Given the description of an element on the screen output the (x, y) to click on. 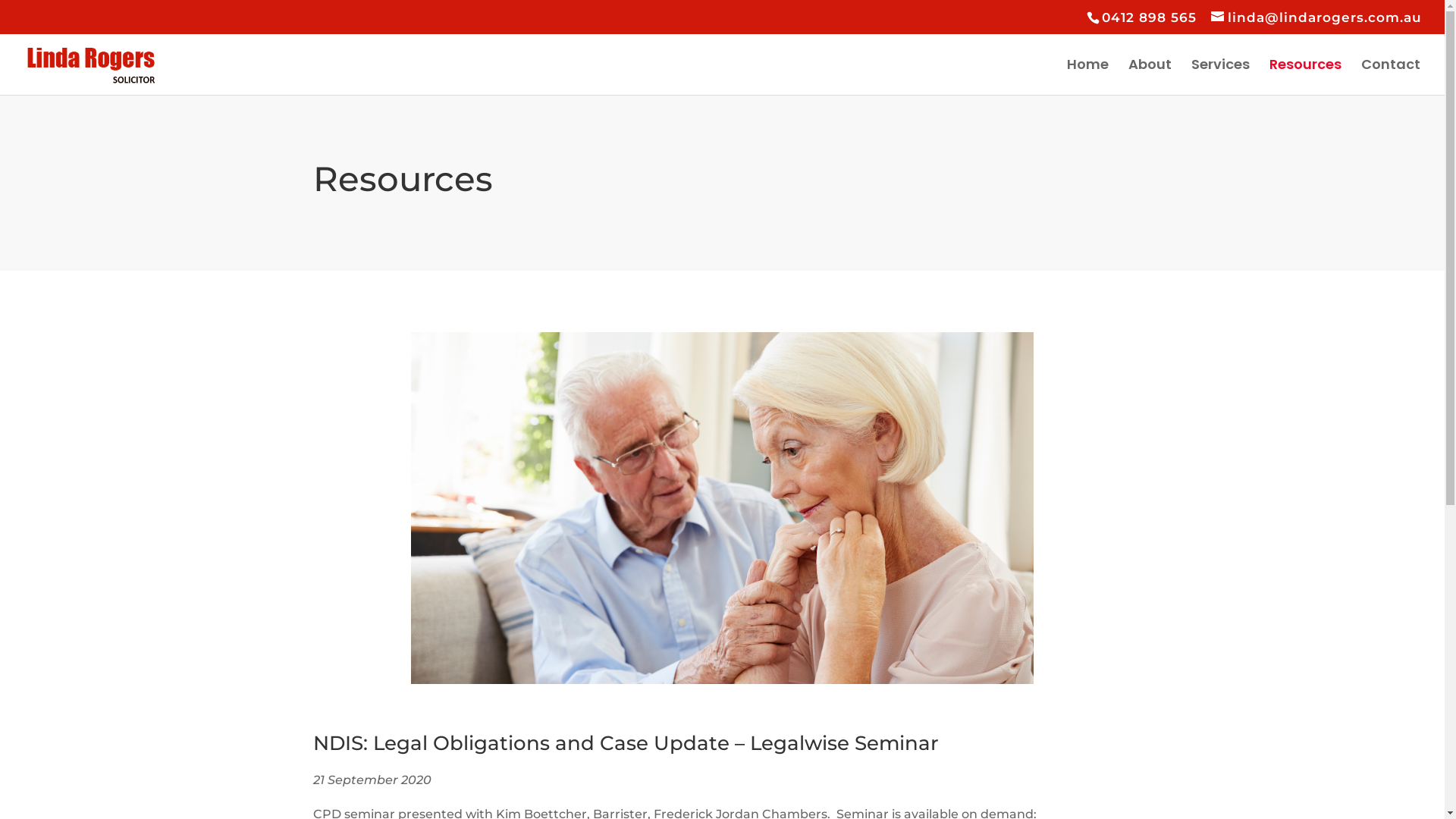
Resources Element type: text (1305, 76)
Contact Element type: text (1390, 76)
linda@lindarogers.com.au Element type: text (1316, 17)
Services Element type: text (1220, 76)
1080 x 610 px Element type: hover (722, 508)
Home Element type: text (1087, 76)
About Element type: text (1149, 76)
